Given the description of an element on the screen output the (x, y) to click on. 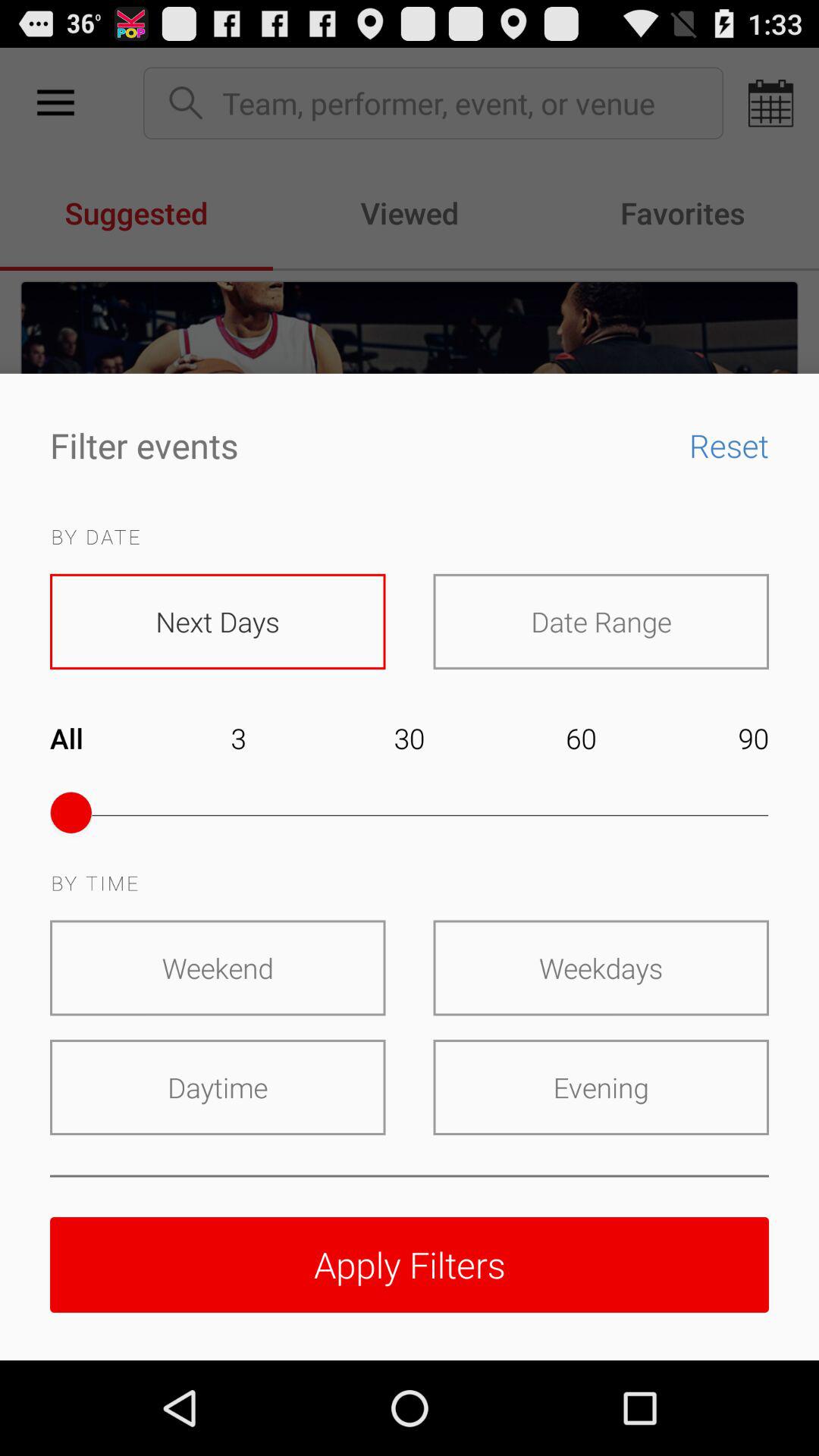
flip until the all item (81, 749)
